Given the description of an element on the screen output the (x, y) to click on. 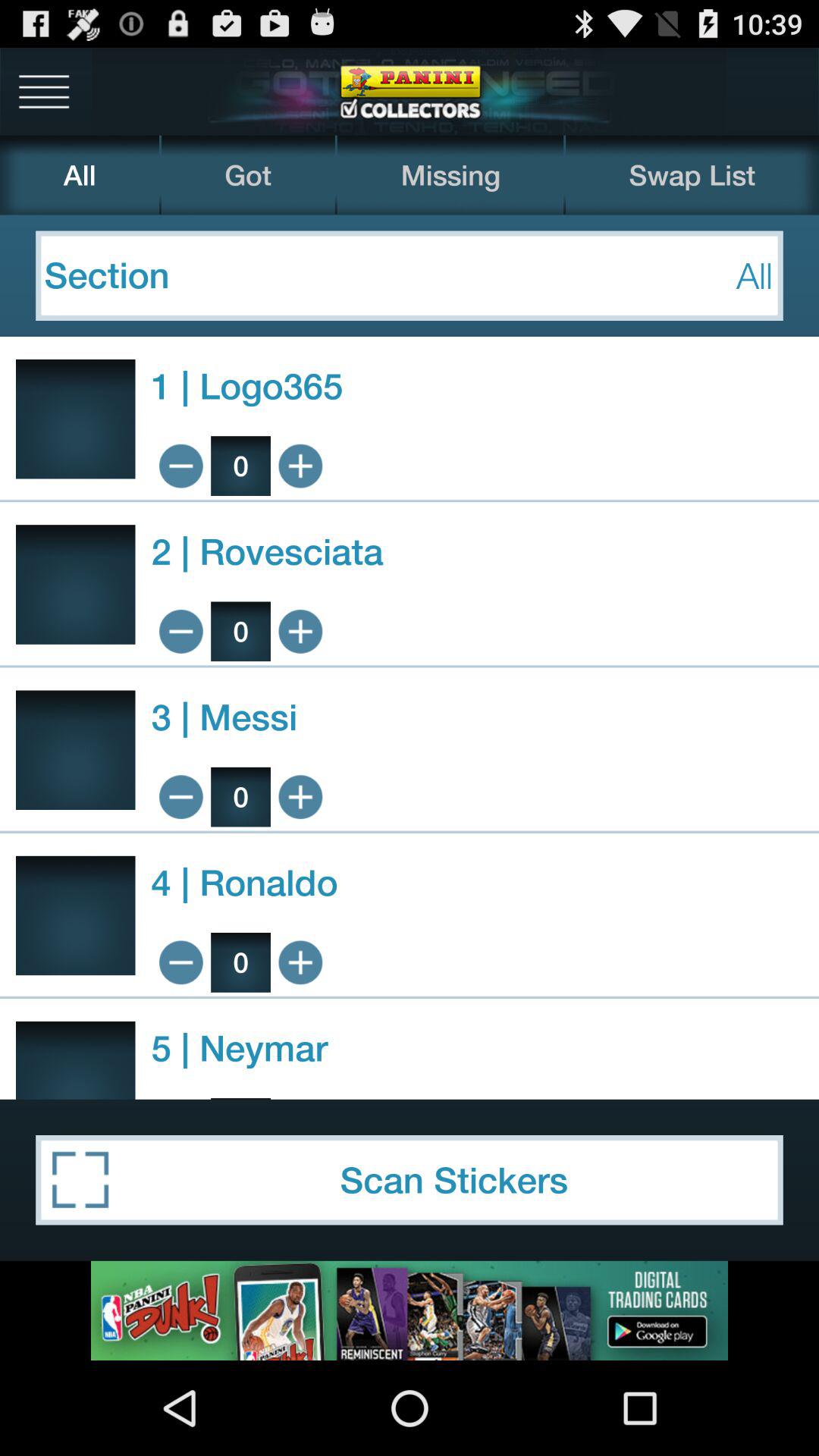
decrease amount (181, 631)
